Given the description of an element on the screen output the (x, y) to click on. 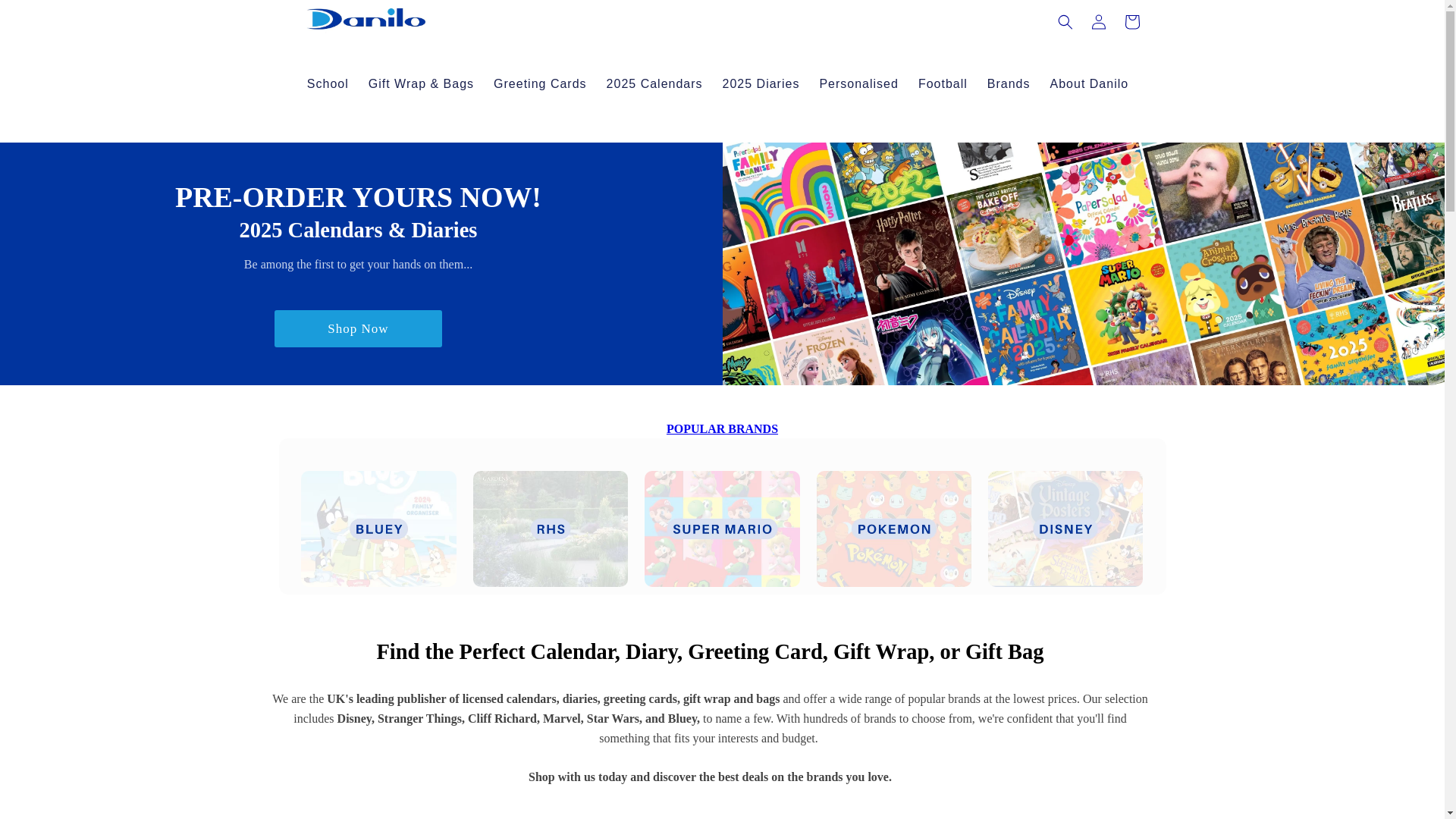
Skip to content (46, 18)
